Given the description of an element on the screen output the (x, y) to click on. 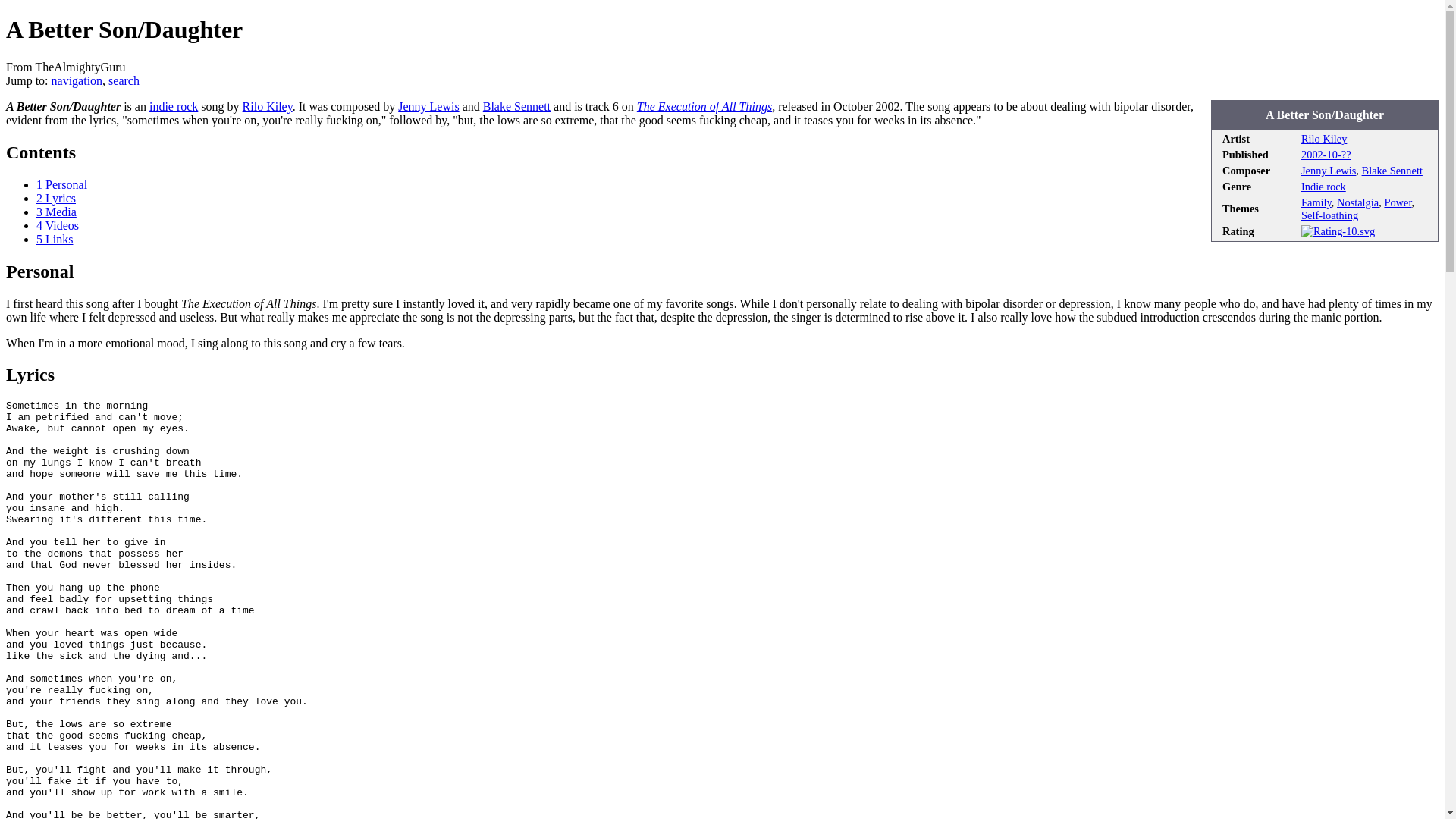
Indie rock (173, 106)
Jenny Lewis (427, 106)
navigation (76, 80)
Rilo Kiley (267, 106)
Blake Sennett (1391, 170)
search (123, 80)
The Execution of All Things (704, 106)
Category:Song Theme - Self-loathing (1329, 215)
5 Links (54, 238)
Family (1316, 202)
The Execution of All Things (704, 106)
Jenny Lewis (1328, 170)
Power (1397, 202)
2 Lyrics (55, 197)
Blake Sennett (516, 106)
